Given the description of an element on the screen output the (x, y) to click on. 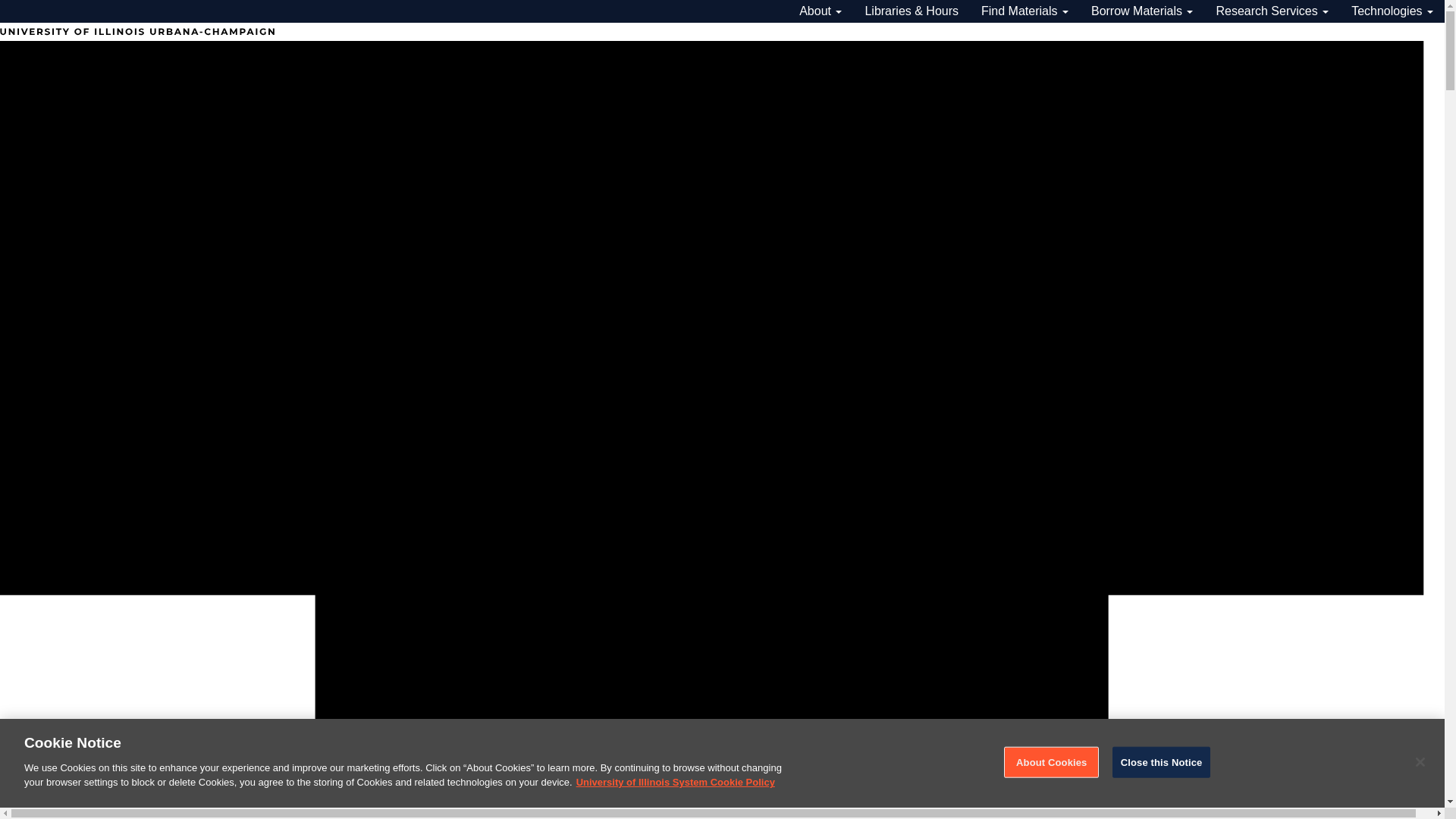
Find Materials (1024, 11)
About (820, 11)
